Given the description of an element on the screen output the (x, y) to click on. 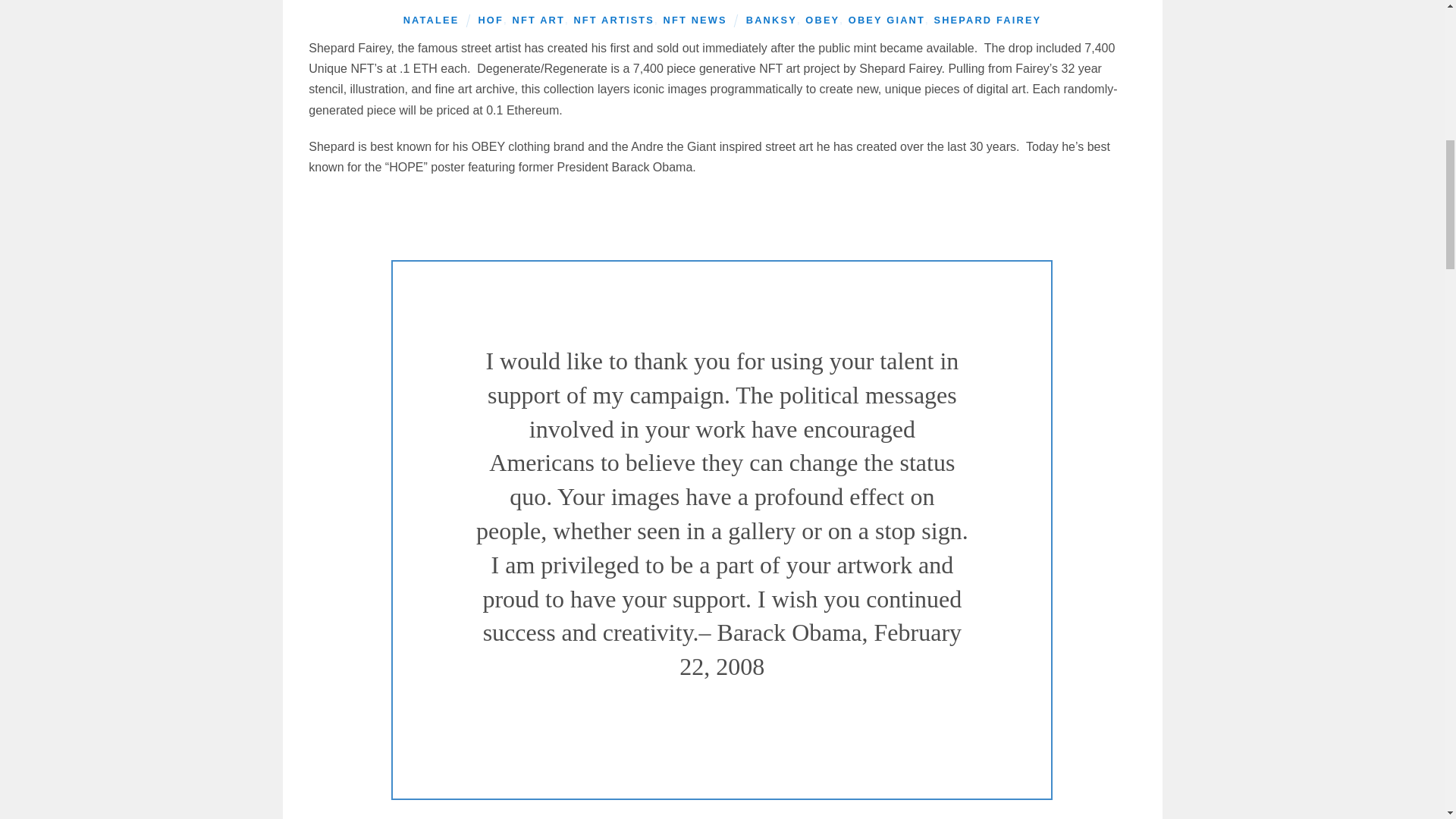
OBEY (822, 19)
NATALEE (431, 19)
HOF (490, 19)
OBEY GIANT (886, 19)
NFT NEWS (694, 19)
BANKSY (770, 19)
NFT ART (538, 19)
SHEPARD FAIREY (987, 19)
NFT ARTISTS (613, 19)
